Given the description of an element on the screen output the (x, y) to click on. 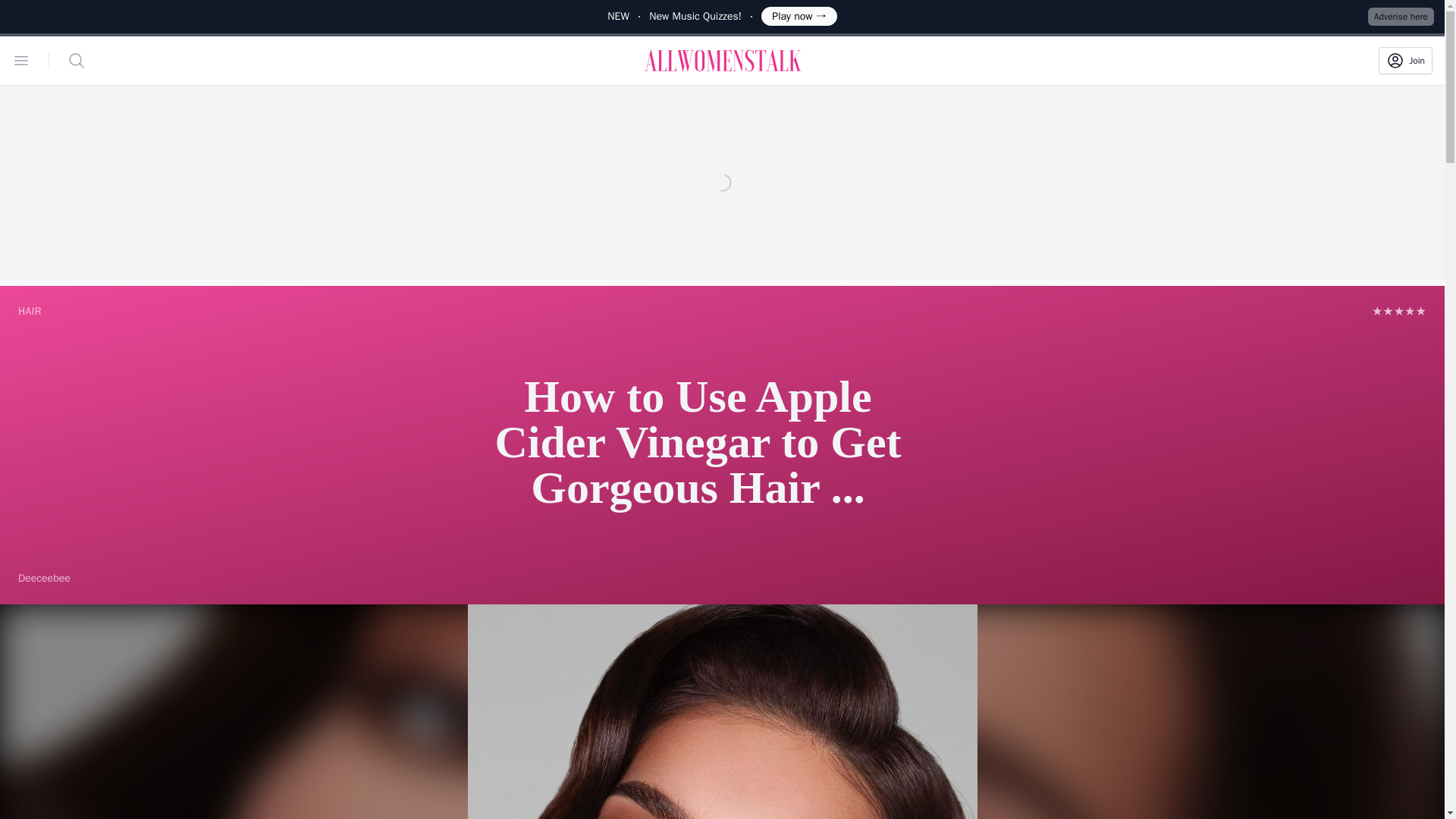
Adverise here (1401, 16)
